Given the description of an element on the screen output the (x, y) to click on. 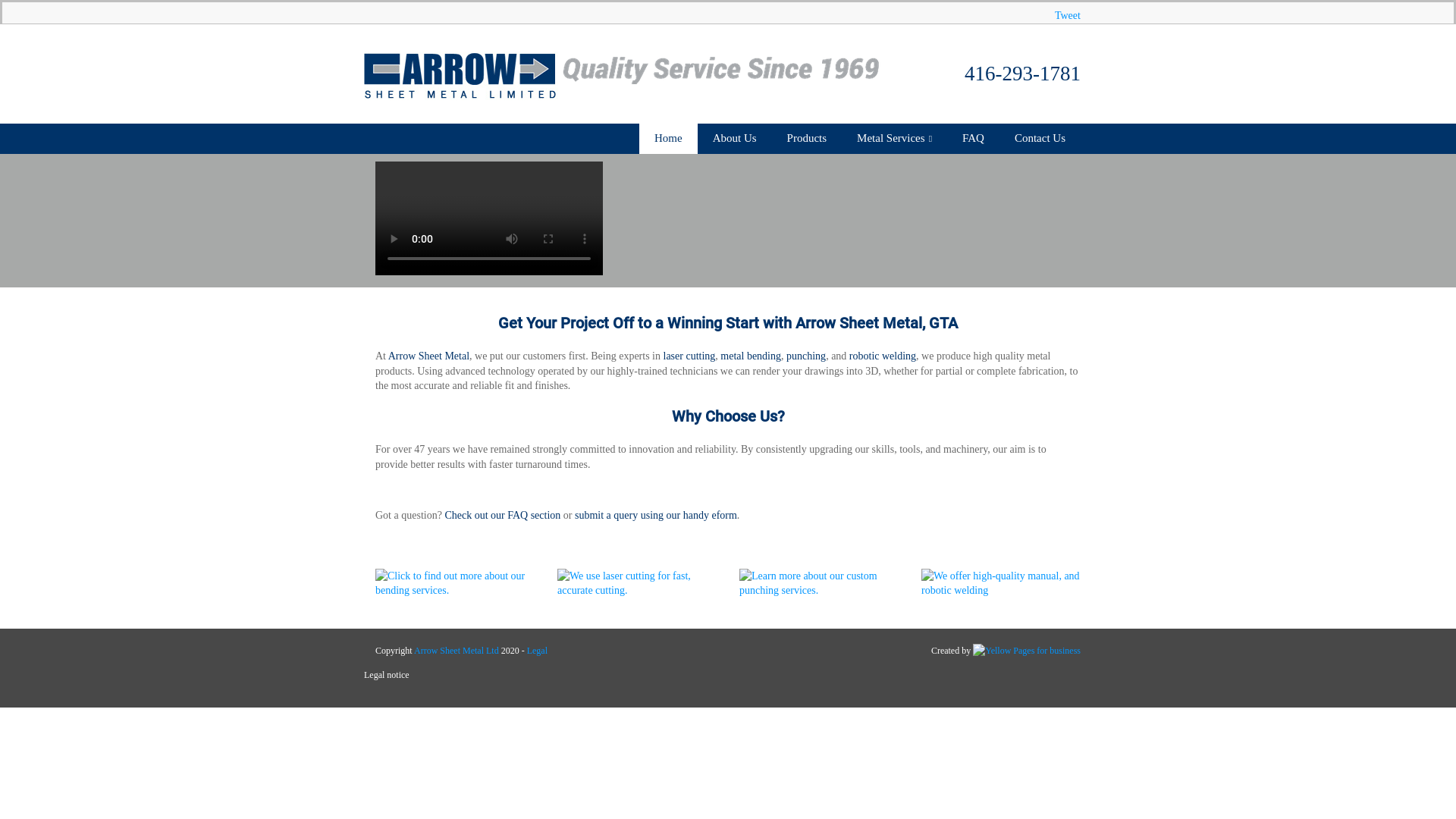
416-293-1781 Element type: text (1022, 73)
laser cutting Element type: text (688, 355)
Home Element type: text (668, 138)
Metal Services Element type: text (894, 138)
Arrow Sheet Metal Ltd Element type: text (456, 650)
submit a query using our handy eform Element type: text (655, 514)
metal bending Element type: text (750, 355)
About Us Element type: text (734, 138)
Check out our FAQ section Element type: text (502, 514)
Contact Us Element type: text (1039, 138)
Tweet Element type: text (1067, 15)
Legal Element type: text (537, 650)
FAQ Element type: text (973, 138)
Products Element type: text (806, 138)
Arrow Sheet Metal Element type: text (428, 355)
punching Element type: text (805, 355)
robotic welding Element type: text (882, 355)
